Given the description of an element on the screen output the (x, y) to click on. 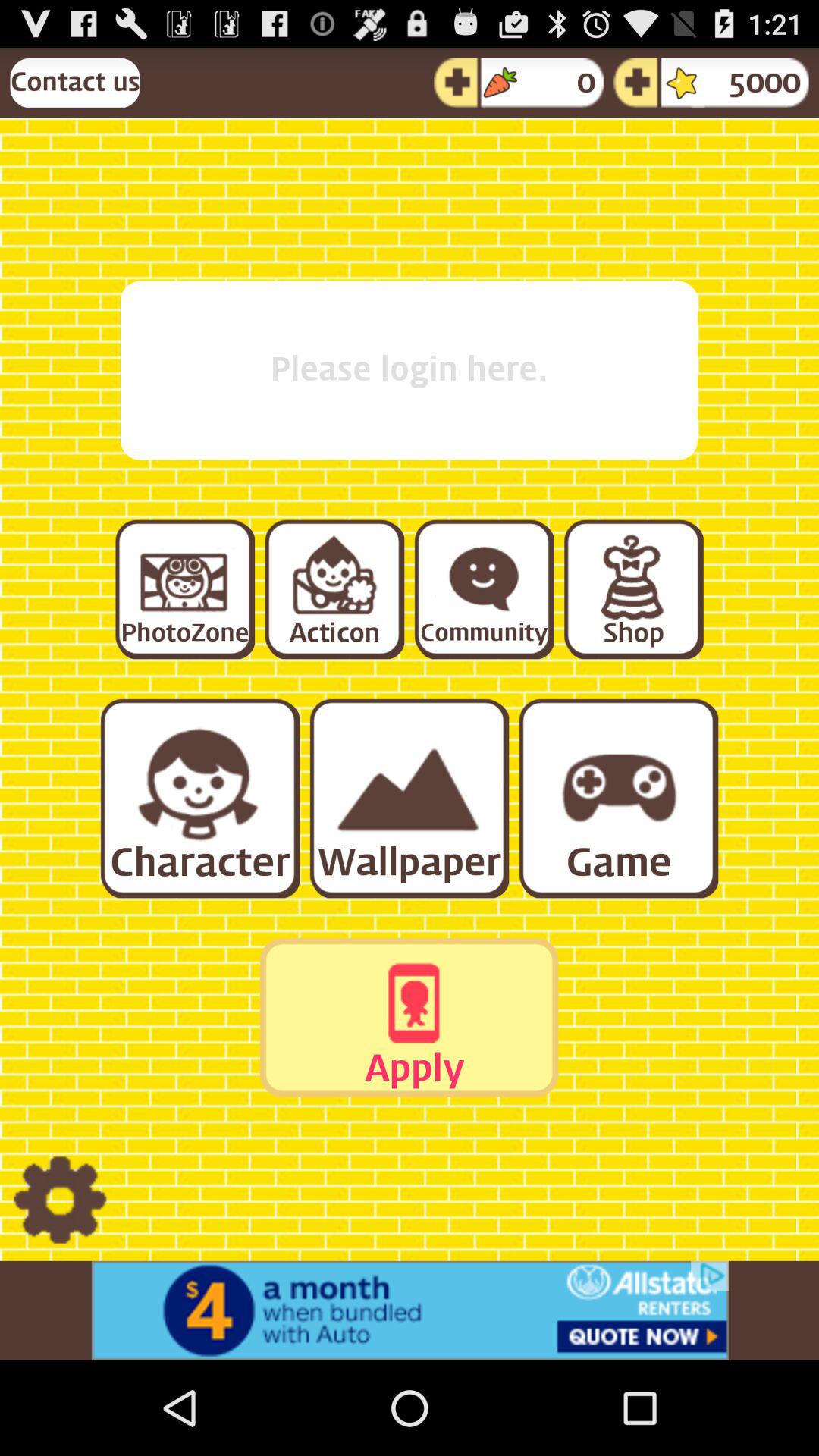
go to setting (59, 1200)
